Given the description of an element on the screen output the (x, y) to click on. 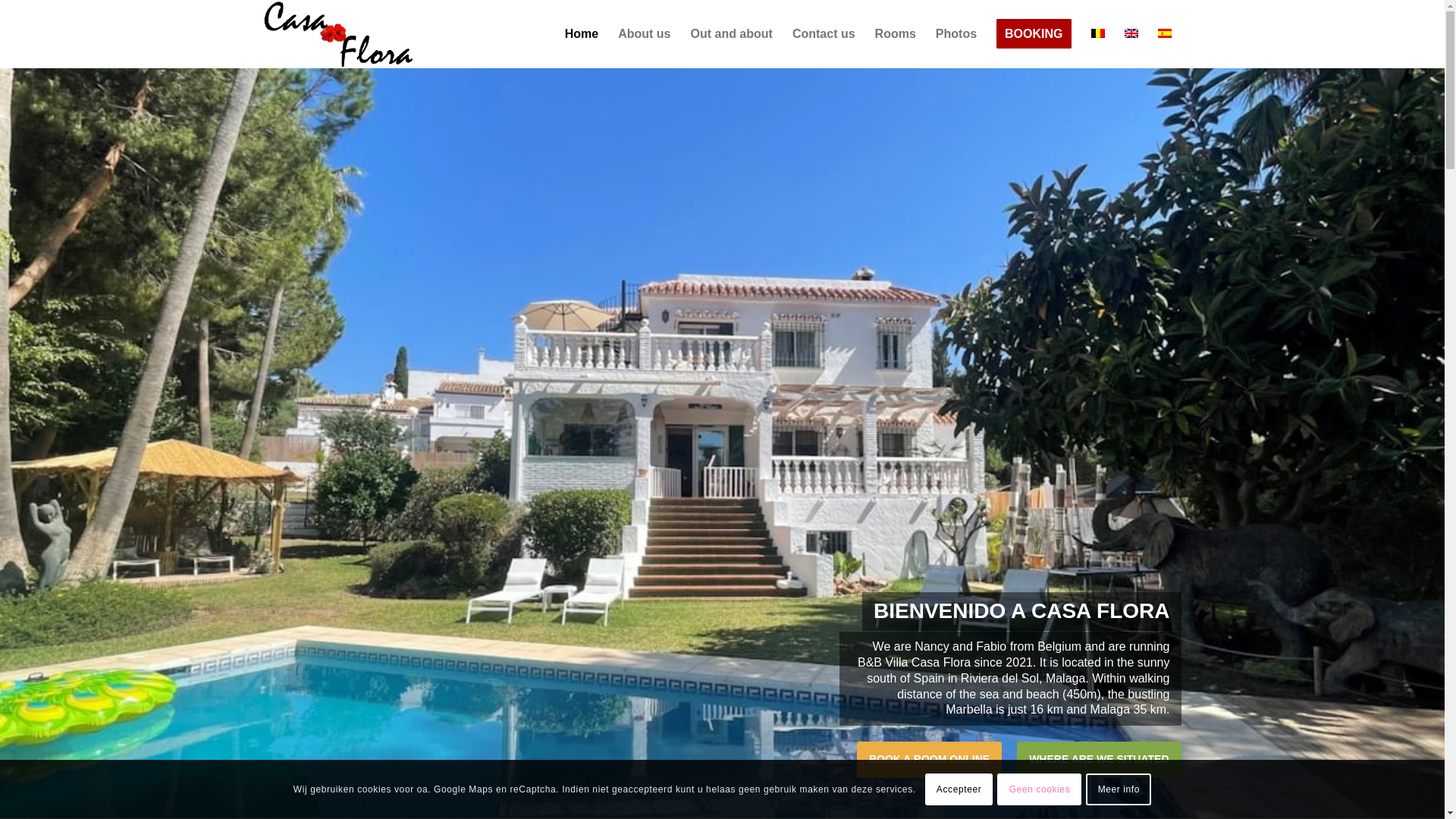
BOOKING (1033, 33)
Sta cookies toe (958, 789)
Out and about (730, 33)
Nederlands (1096, 32)
About us (643, 33)
English (1130, 32)
Rooms (895, 33)
Contact us (823, 33)
